Given the description of an element on the screen output the (x, y) to click on. 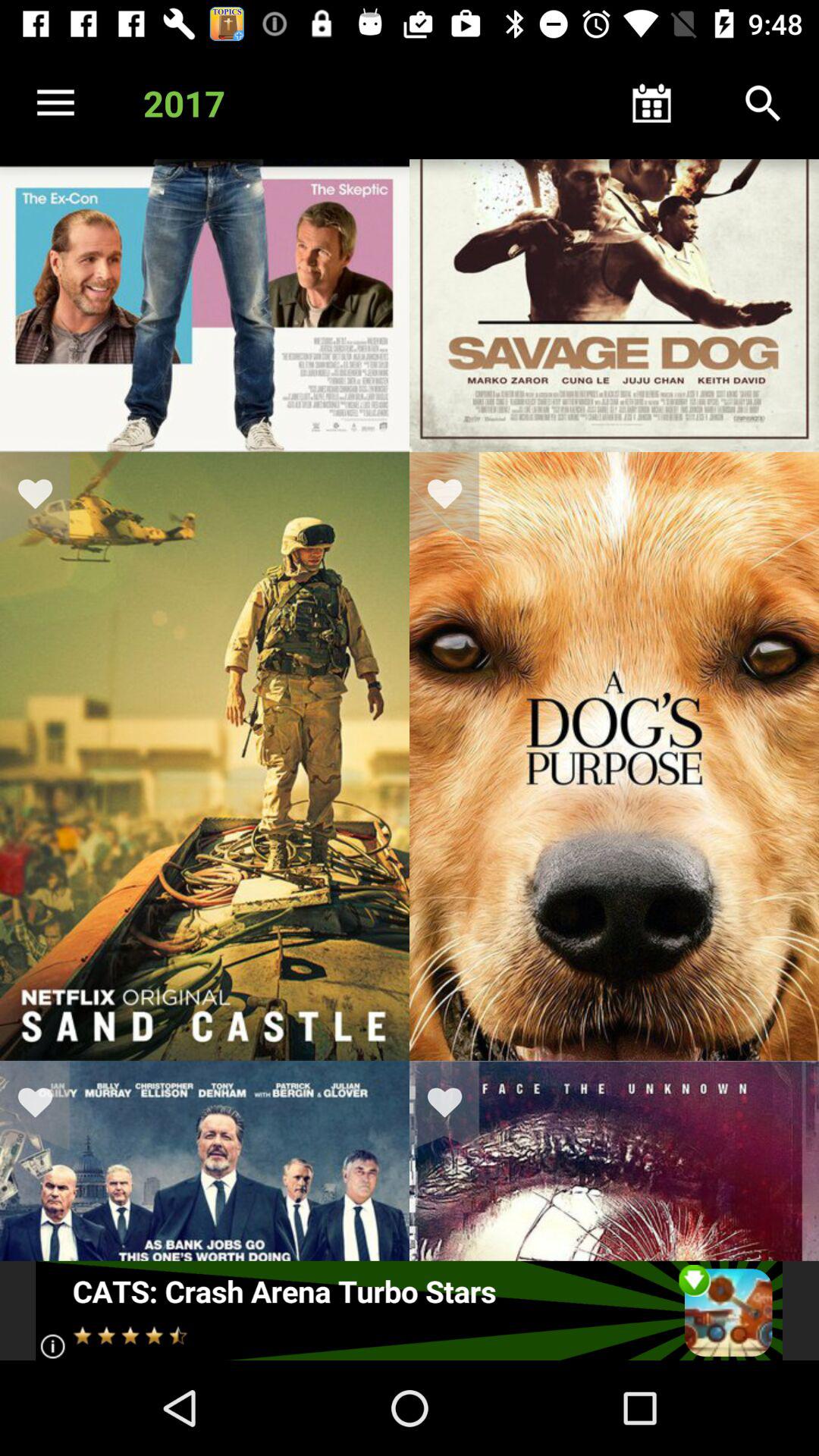
heart this movie (454, 497)
